Given the description of an element on the screen output the (x, y) to click on. 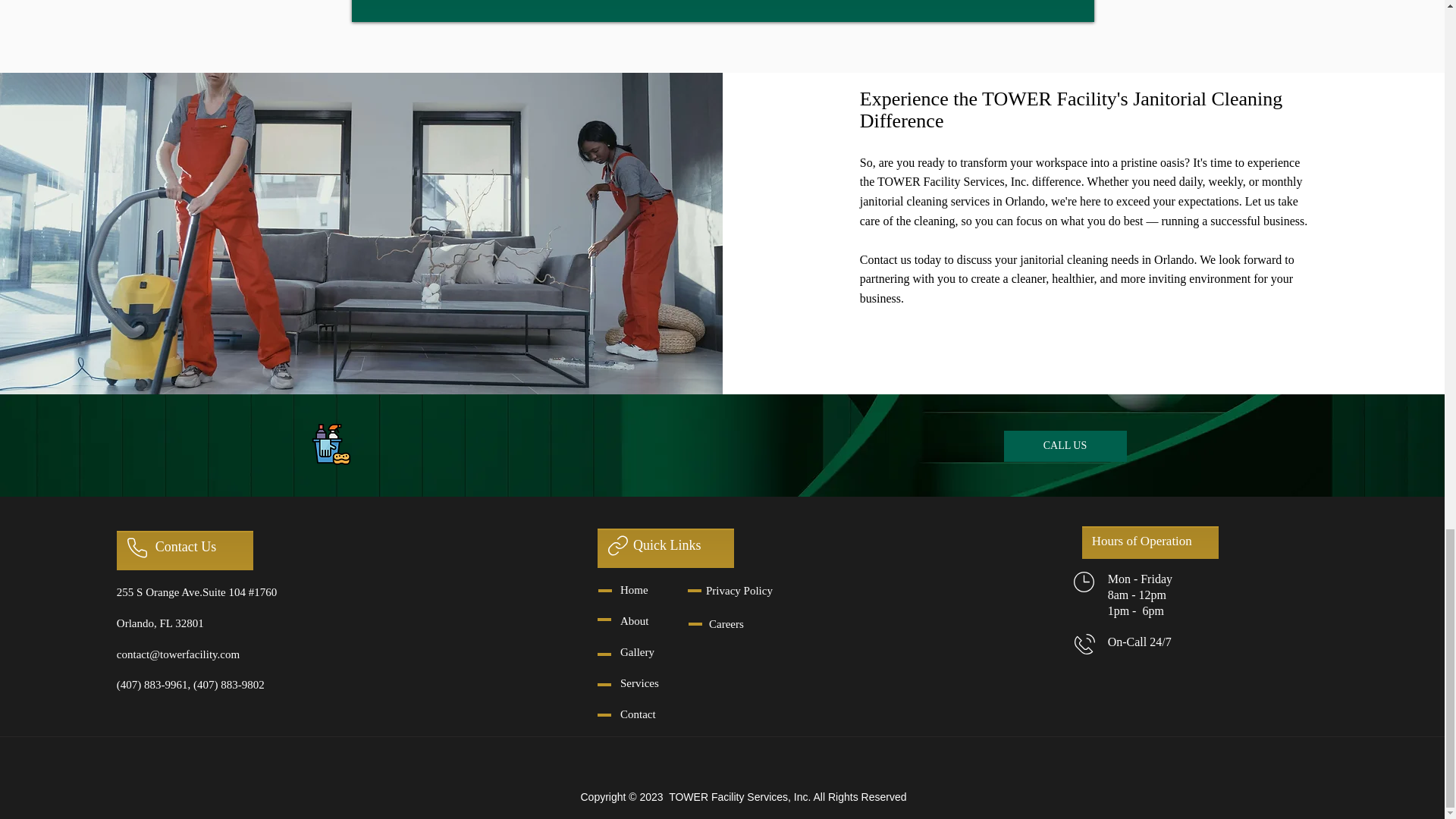
Careers (726, 623)
Privacy Policy (739, 590)
About (634, 621)
Home (633, 589)
Contact (638, 714)
Contact Us (185, 546)
cleaning.png (331, 444)
Services (639, 683)
CALL US (1065, 445)
Gallery (636, 652)
